Given the description of an element on the screen output the (x, y) to click on. 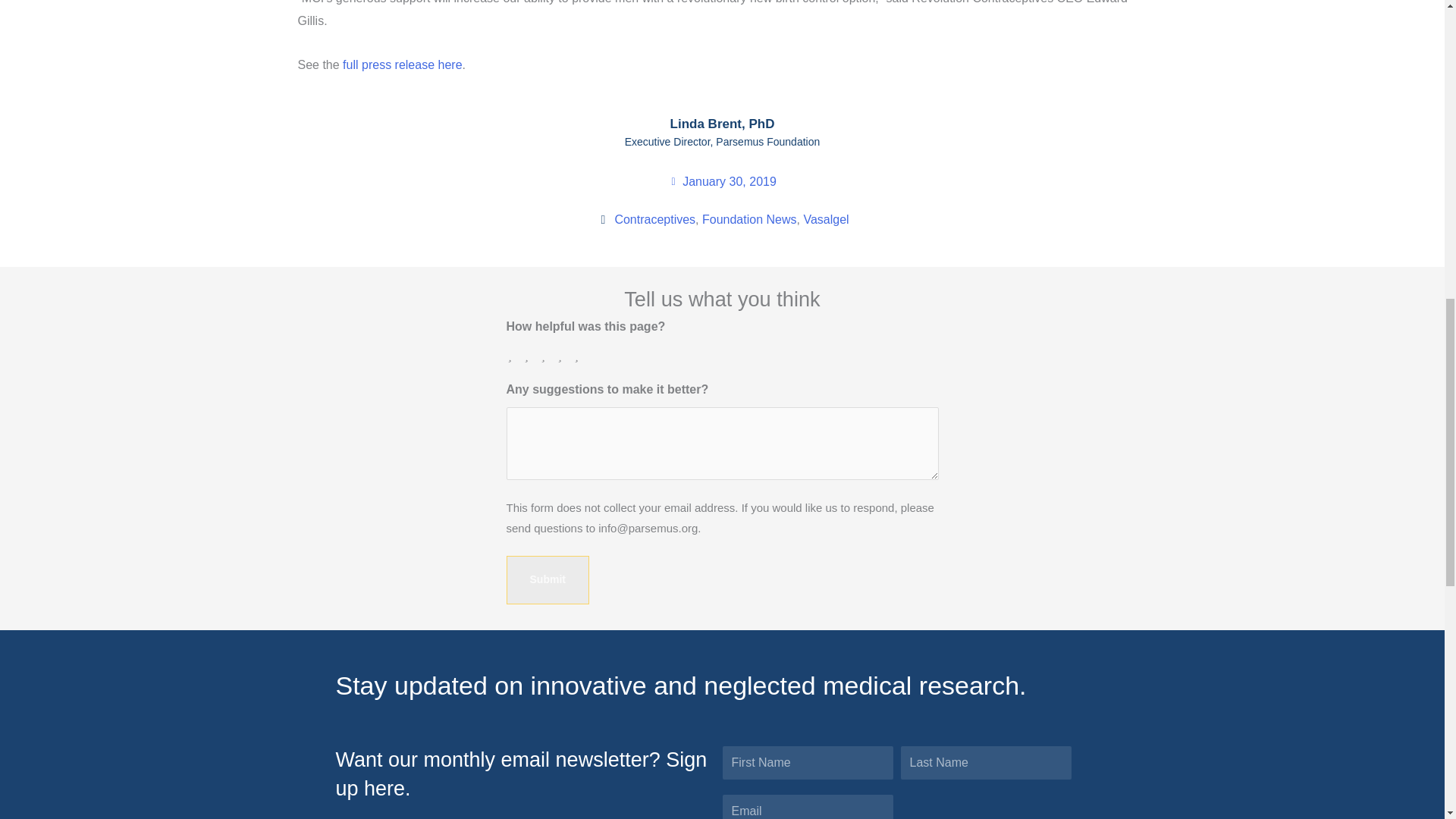
Submit (547, 580)
